Given the description of an element on the screen output the (x, y) to click on. 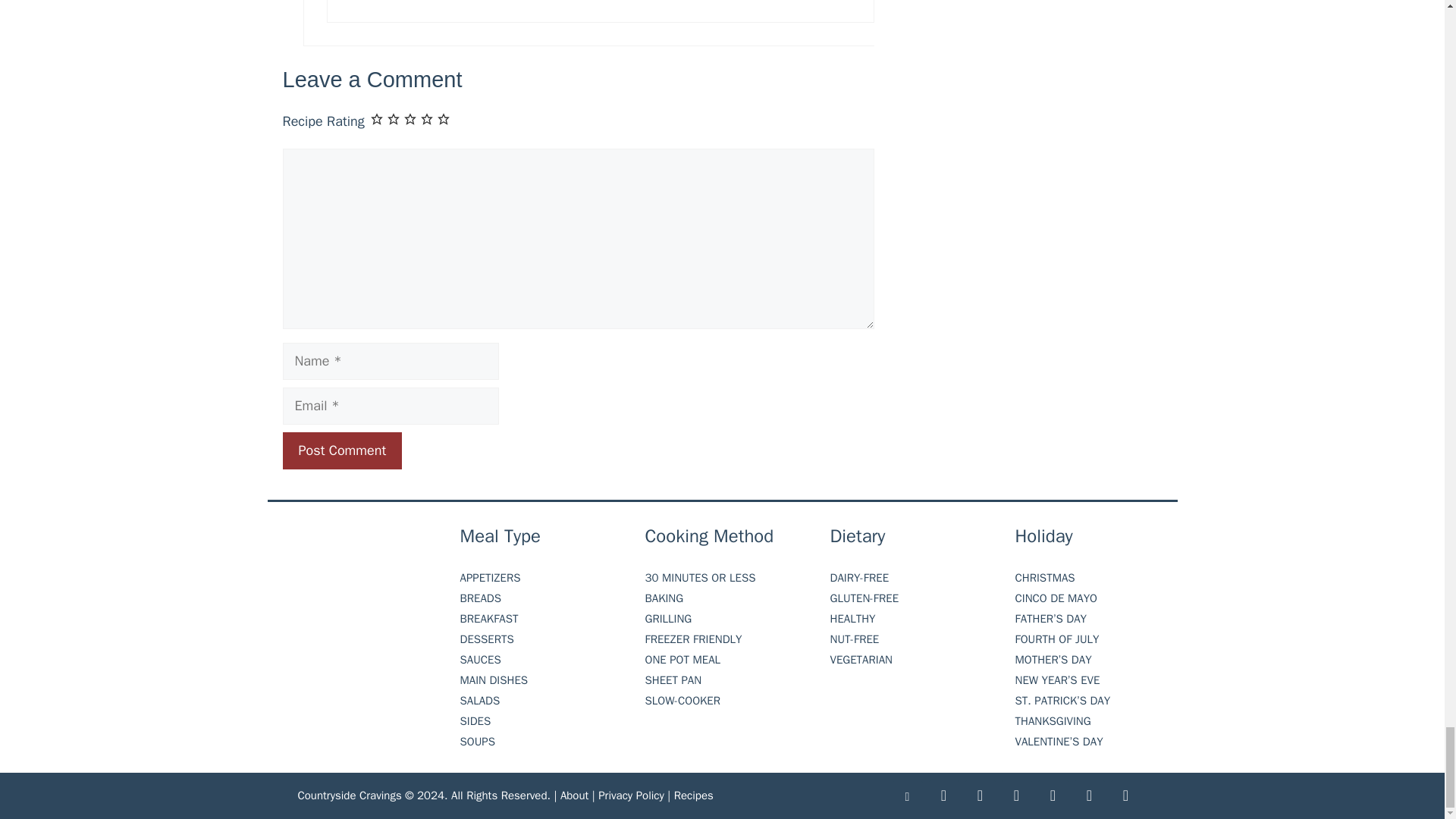
Post Comment (341, 450)
RSS (1088, 795)
Blog Lovin' (906, 796)
Pinterest (1015, 795)
Instagram (1124, 795)
Instagram (978, 795)
Twitter (1051, 795)
Facebook (943, 795)
